Given the description of an element on the screen output the (x, y) to click on. 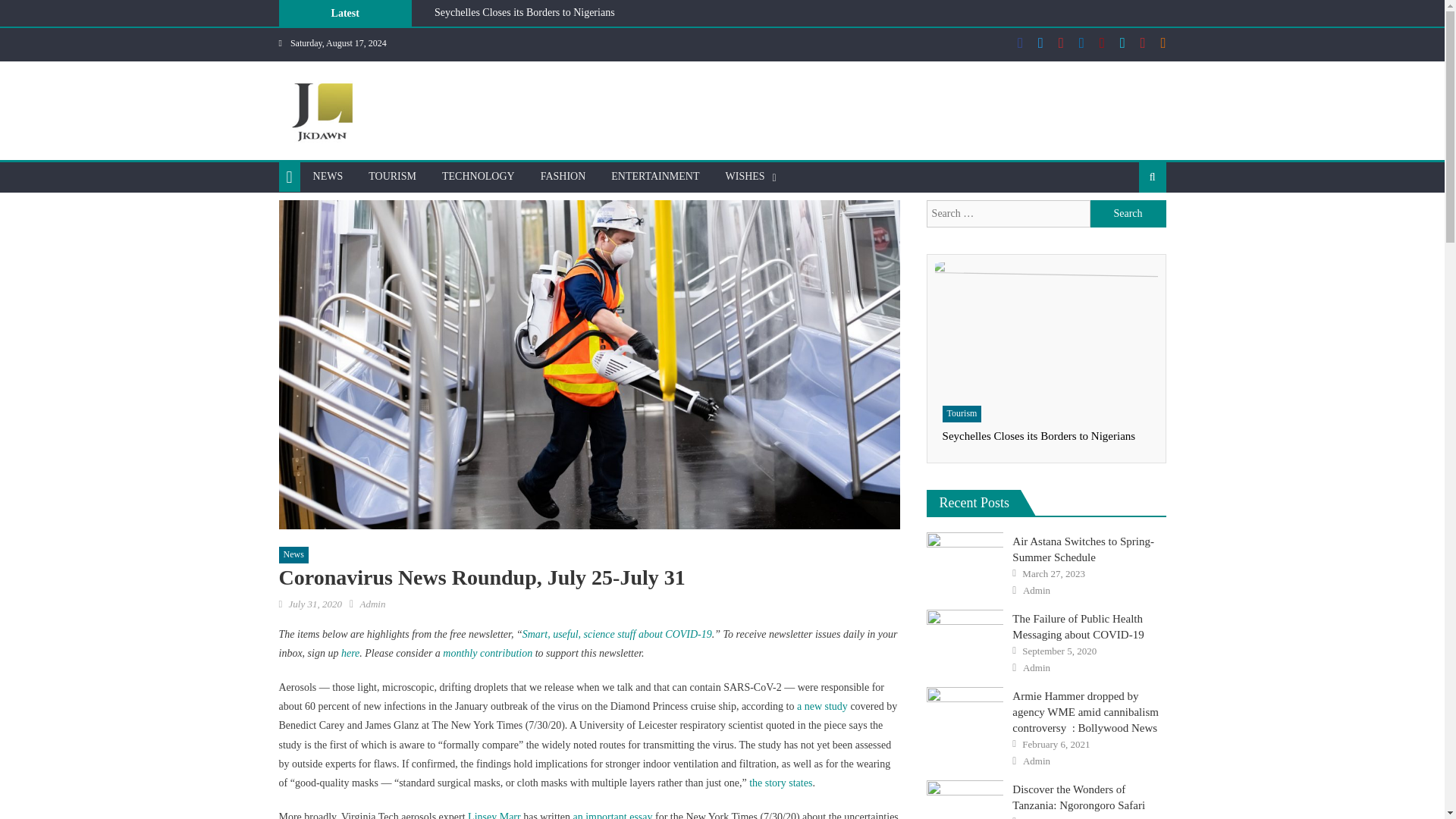
The Failure of Public Health Messaging about COVID-19 (964, 636)
FASHION (562, 176)
WISHES (745, 176)
Air Astana Switches to Spring-Summer Schedule (964, 559)
News (293, 555)
monthly contribution (487, 653)
ENTERTAINMENT (654, 176)
an important essay (612, 815)
Seychelles Closes its Borders to Nigerians (1045, 328)
Search (1128, 213)
